Given the description of an element on the screen output the (x, y) to click on. 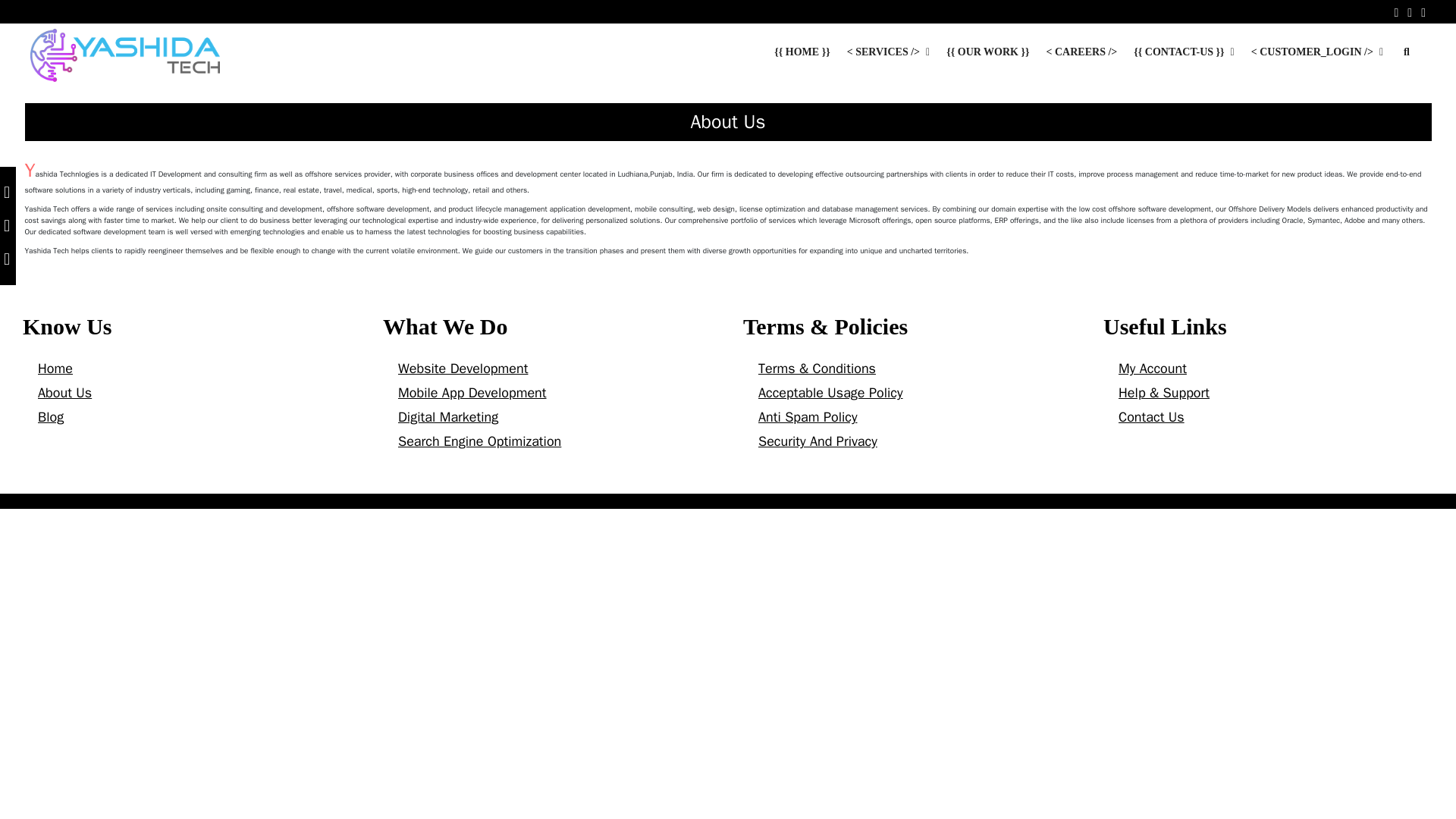
Website Development (462, 368)
Security And Privacy (817, 441)
Search Engine Optimization (478, 441)
Mobile App Development (472, 392)
Home (54, 368)
Acceptable Usage Policy (830, 392)
Yashida Tech (124, 54)
Digital Marketing (447, 416)
Blog (50, 416)
Search (328, 23)
